Given the description of an element on the screen output the (x, y) to click on. 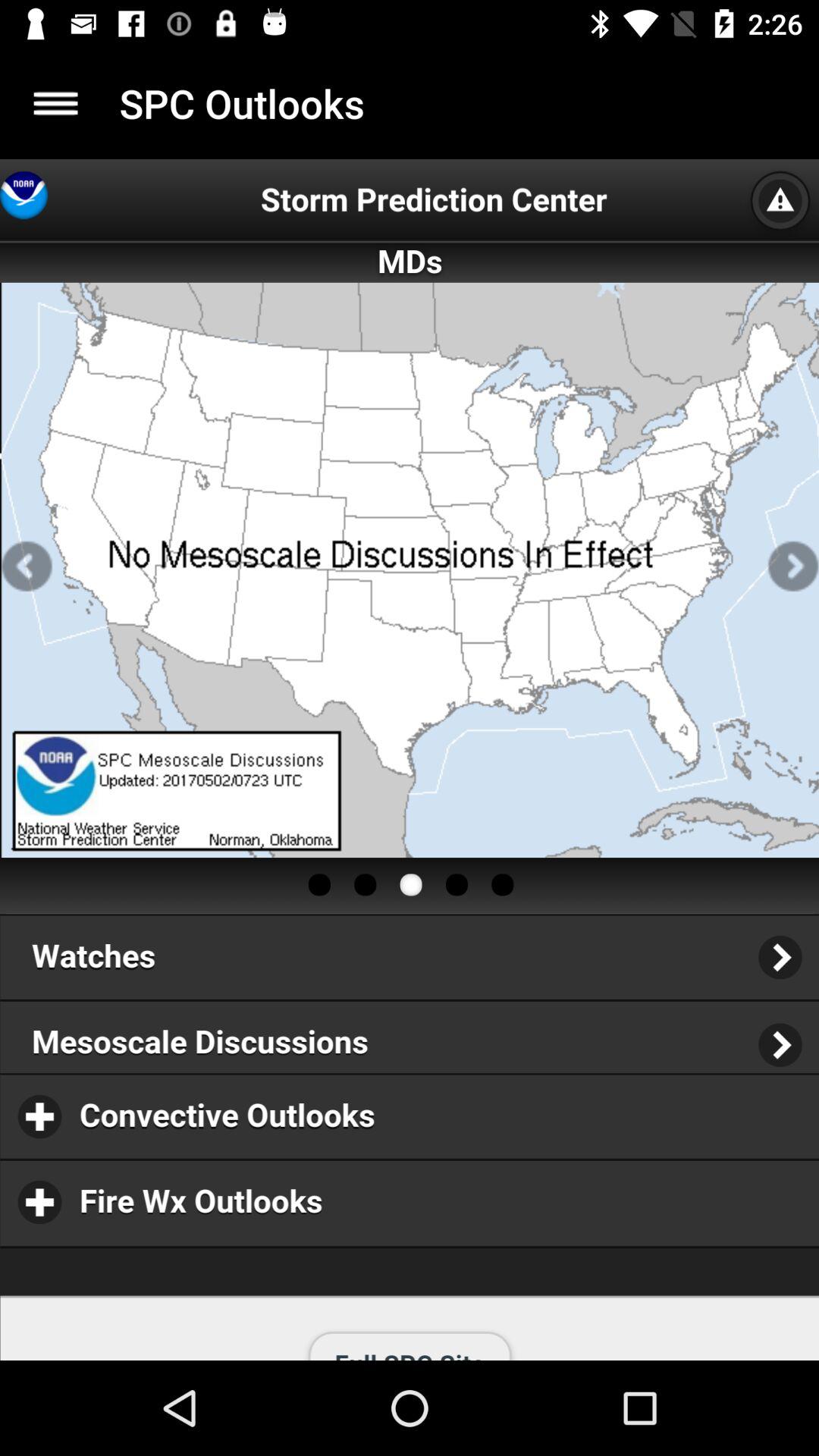
launch item next to spc outlooks (55, 103)
